Given the description of an element on the screen output the (x, y) to click on. 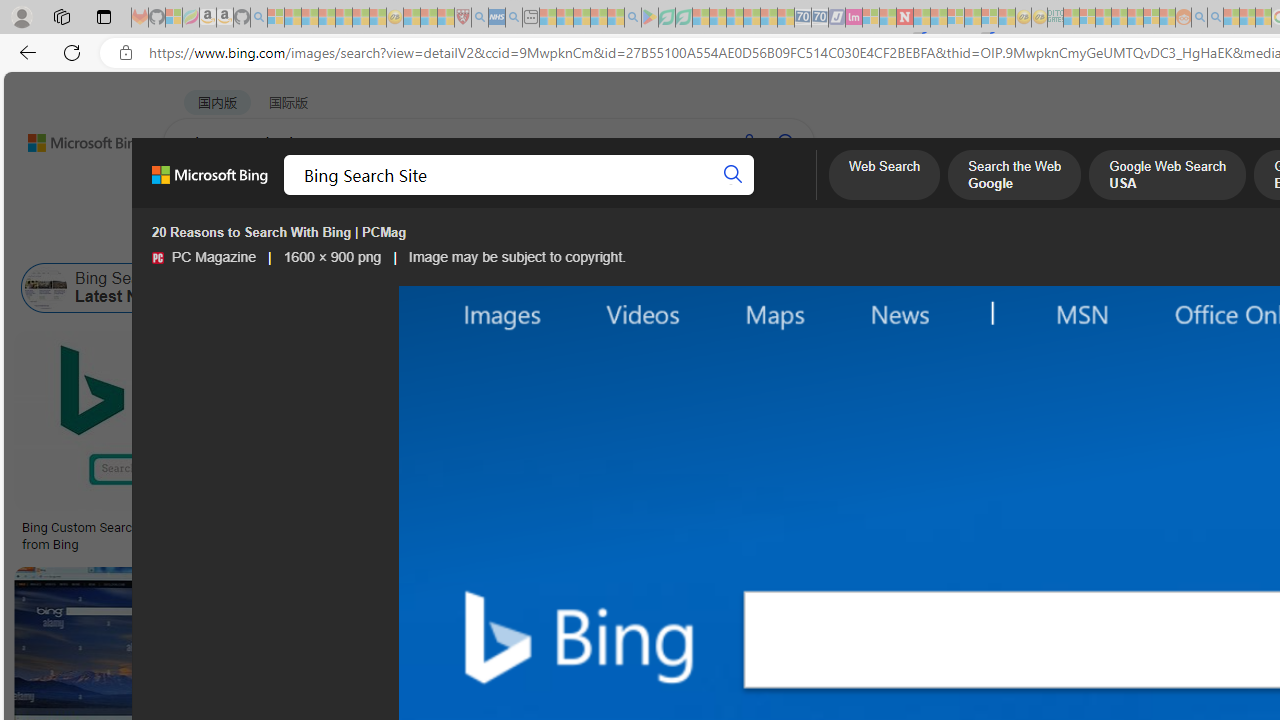
Bing Custom Search: A New Site Search Solution from Bing (169, 535)
Search the Web Google (1014, 177)
MY BING (276, 195)
Bing as Search Engine (301, 287)
MORE (793, 195)
20 Reasons to Search With Bing | PCMag (1093, 528)
Bing - SEOLend (492, 528)
Bing - SEOLendSave (497, 444)
Bing as Search Engine (222, 287)
Web Search (883, 177)
DICT (717, 195)
